Given the description of an element on the screen output the (x, y) to click on. 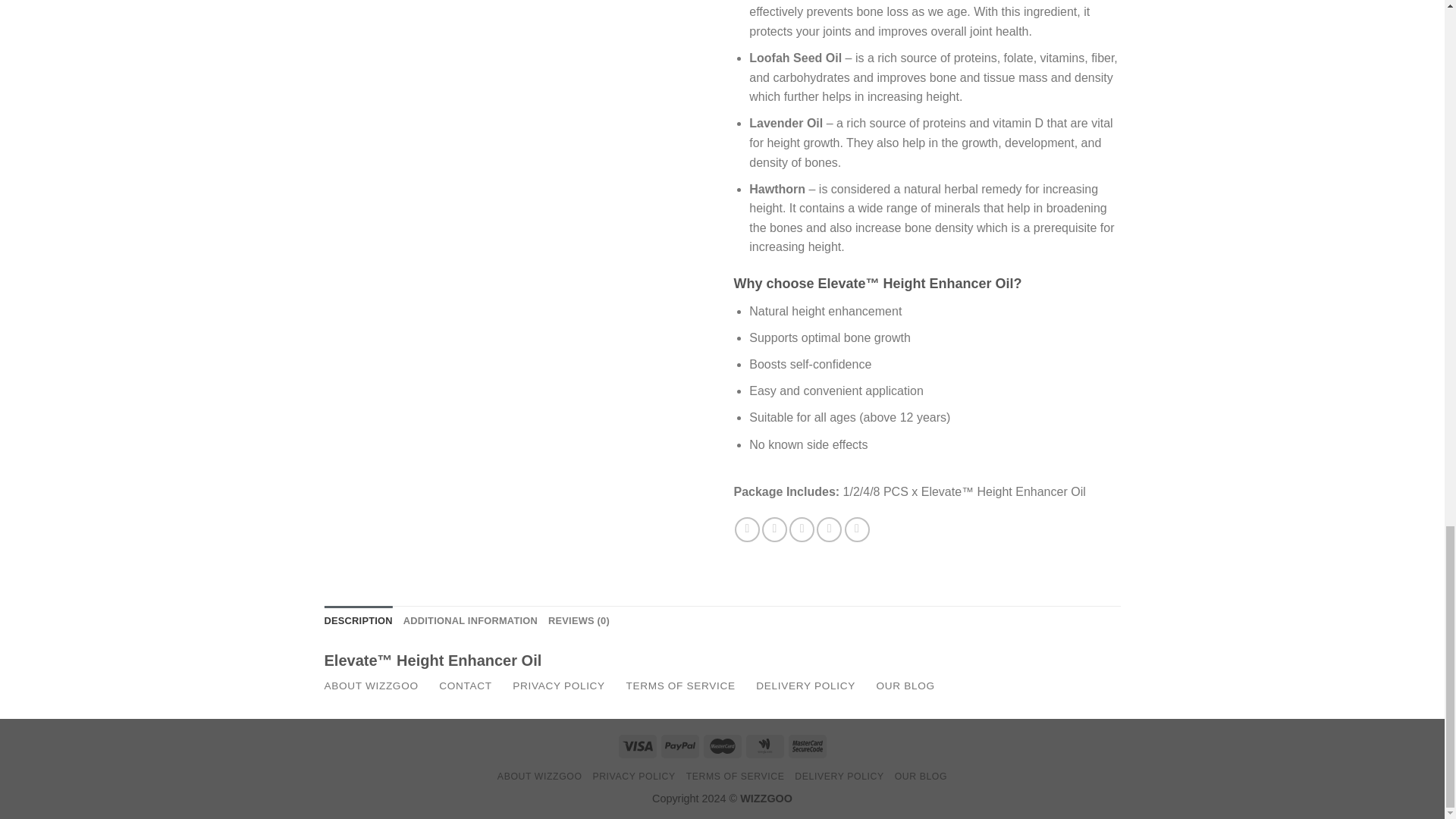
Share on Twitter (774, 529)
Share on Facebook (747, 529)
